Given the description of an element on the screen output the (x, y) to click on. 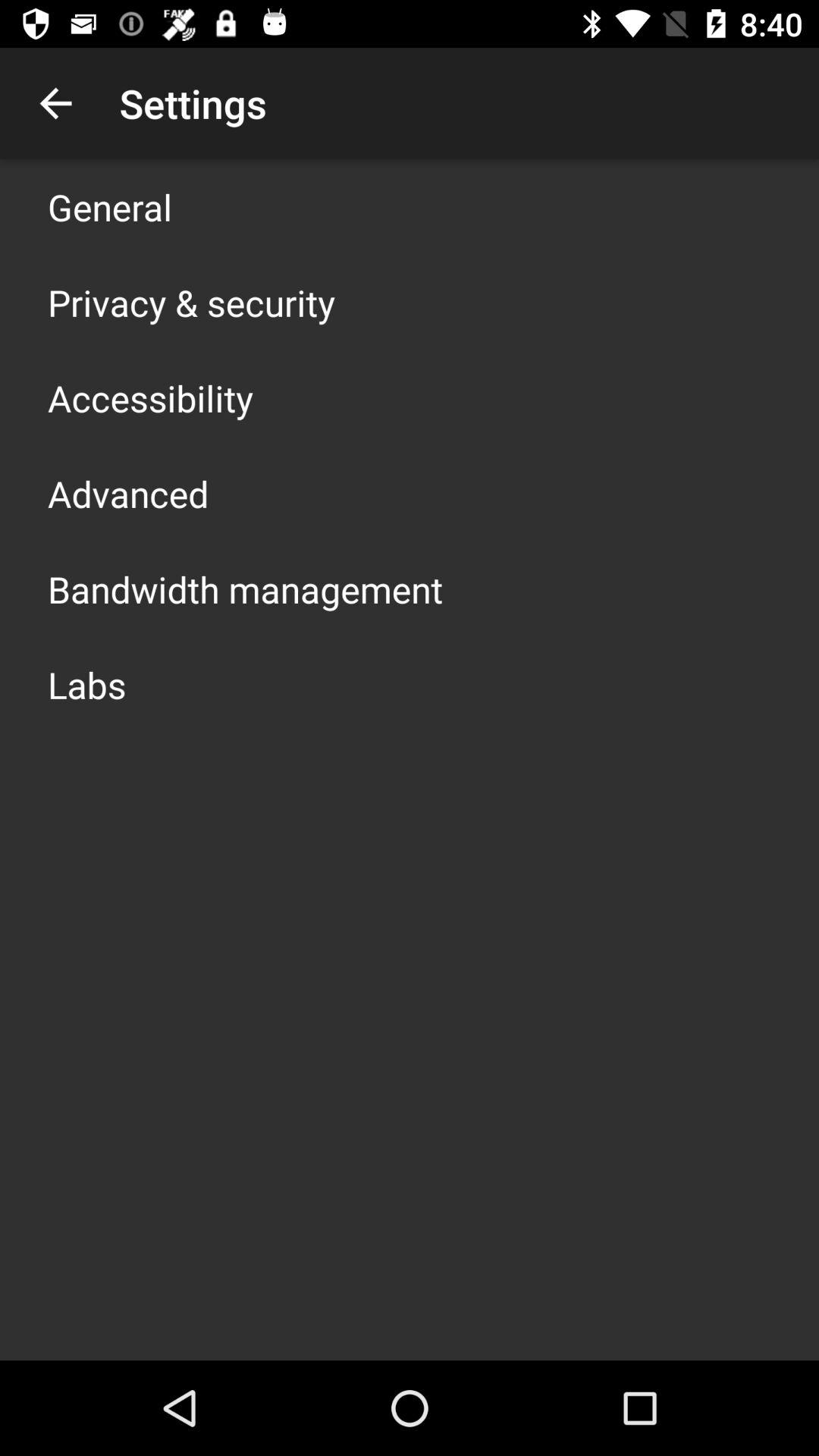
flip until the advanced (127, 493)
